Given the description of an element on the screen output the (x, y) to click on. 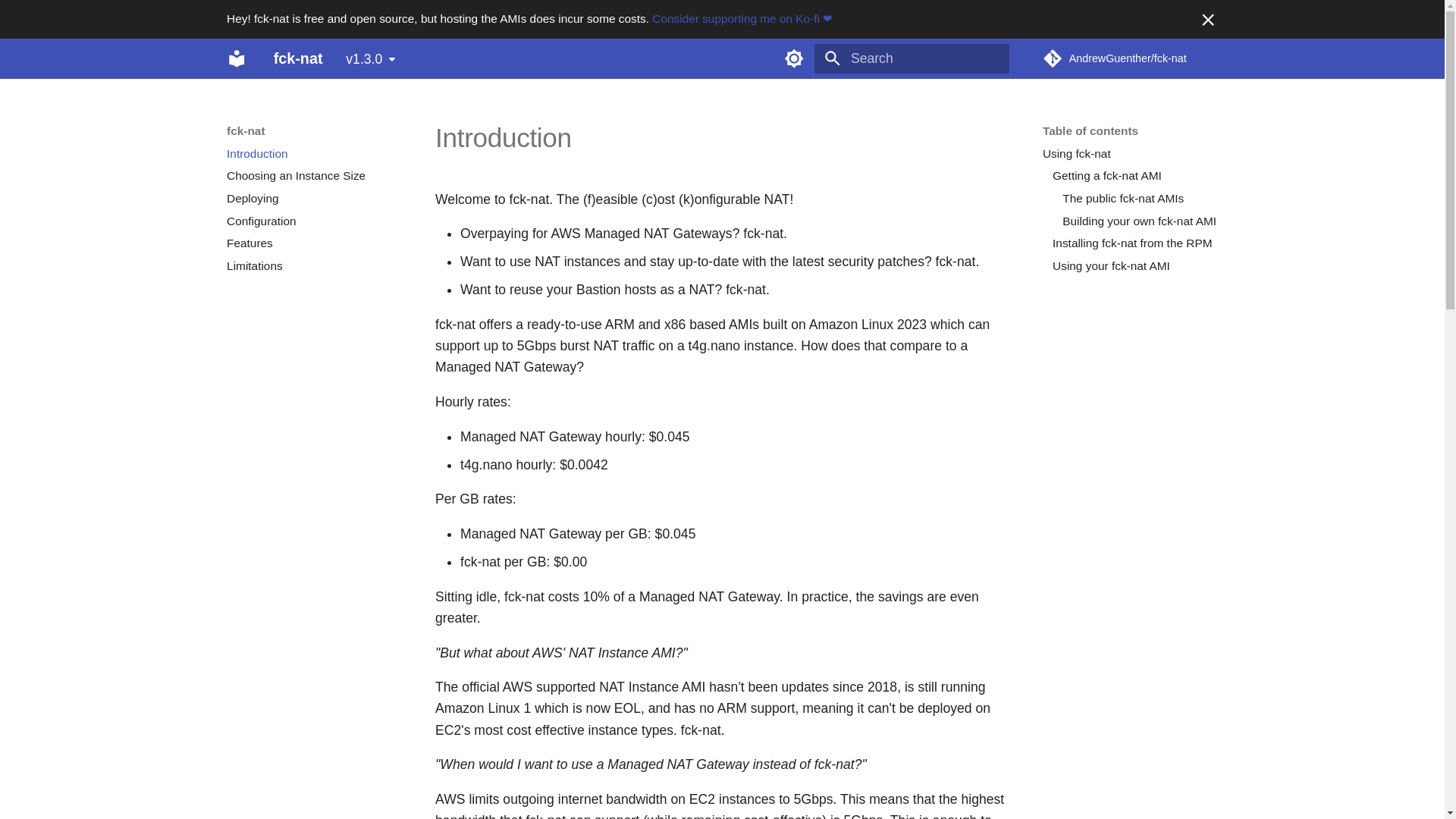
v1.3.0 (371, 59)
Configuration (314, 221)
fck-nat (236, 58)
Switch to dark mode (793, 58)
Using your fck-nat AMI (1134, 265)
Go to repository (1129, 58)
Deploying (314, 198)
Introduction (314, 153)
Limitations (314, 265)
Choosing an Instance Size (314, 175)
The public fck-nat AMIs (1139, 198)
Building your own fck-nat AMI (1139, 221)
Installing fck-nat from the RPM (1134, 242)
Using fck-nat (1129, 153)
Getting a fck-nat AMI (1134, 175)
